Given the description of an element on the screen output the (x, y) to click on. 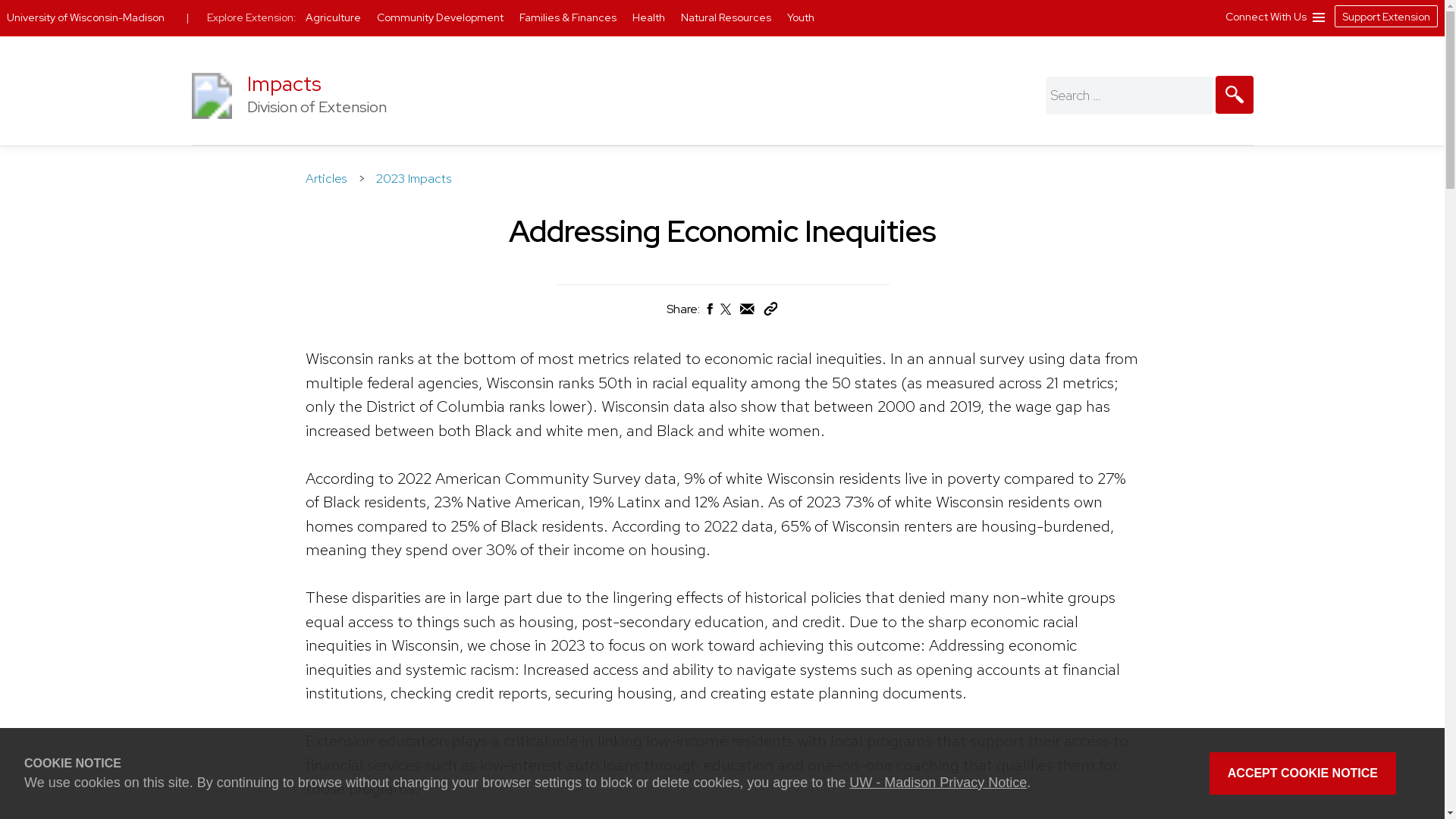
Youth (800, 17)
Search (1233, 94)
Community Development (441, 17)
Share via Email (747, 308)
Impacts (284, 83)
Support Extension (1386, 15)
Agriculture (333, 17)
2023 Impacts (413, 177)
Division of Extension (210, 122)
Search (1233, 94)
